Given the description of an element on the screen output the (x, y) to click on. 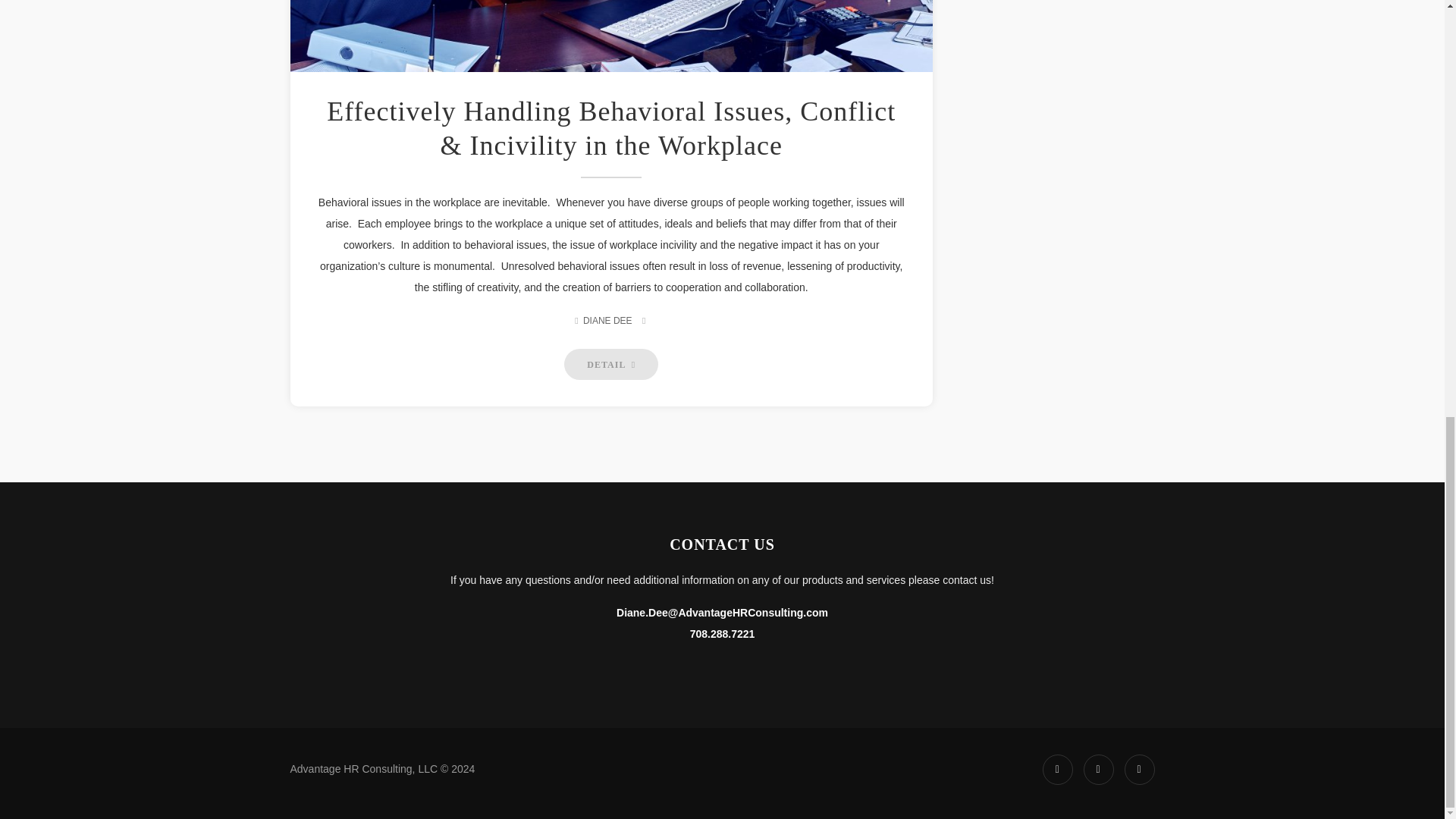
708.288.7221 (722, 633)
DETAIL (611, 364)
Posts by Diane Dee (607, 320)
DIANE DEE (607, 320)
